Given the description of an element on the screen output the (x, y) to click on. 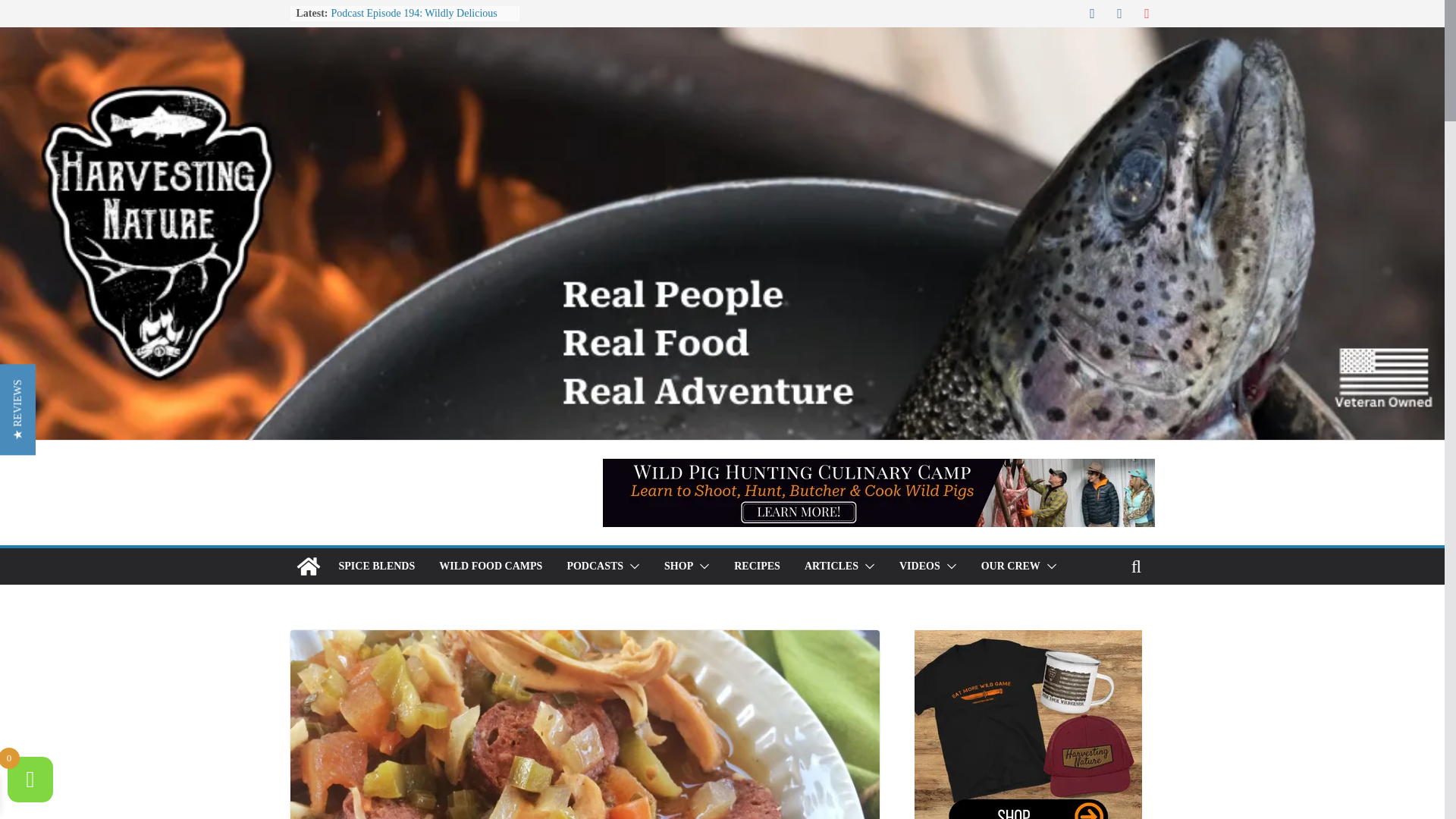
ARTICLES (832, 566)
RECIPES (756, 566)
SHOP (678, 566)
Harvesting Nature (307, 565)
OUR CREW (1011, 566)
PODCASTS (594, 566)
SPICE BLENDS (375, 566)
WILD FOOD CAMPS (490, 566)
VIDEOS (919, 566)
